Given the description of an element on the screen output the (x, y) to click on. 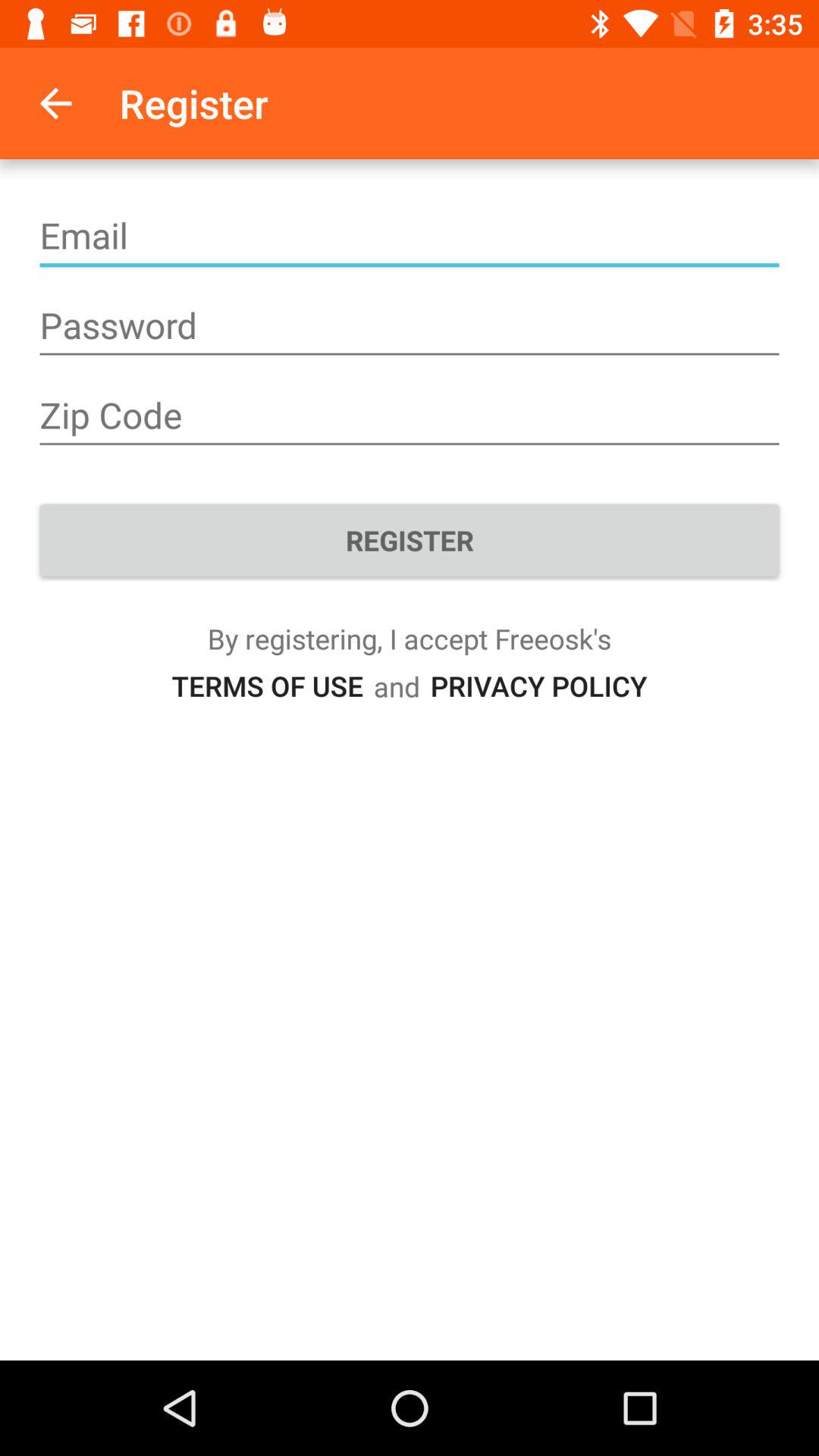
turn on the item below register icon (538, 685)
